Given the description of an element on the screen output the (x, y) to click on. 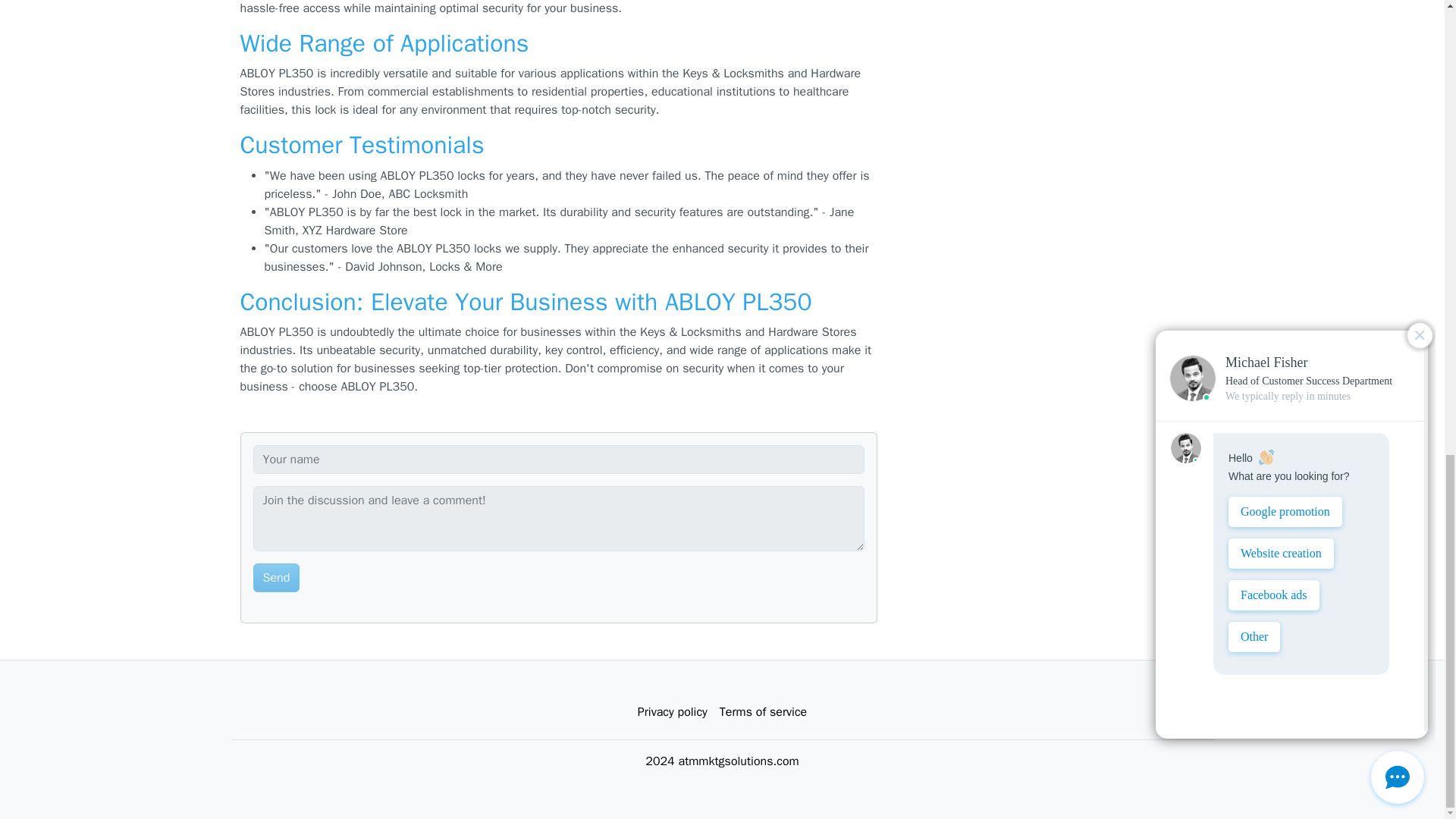
Send (276, 577)
Terms of service (762, 711)
Privacy policy (672, 711)
Send (276, 577)
